Given the description of an element on the screen output the (x, y) to click on. 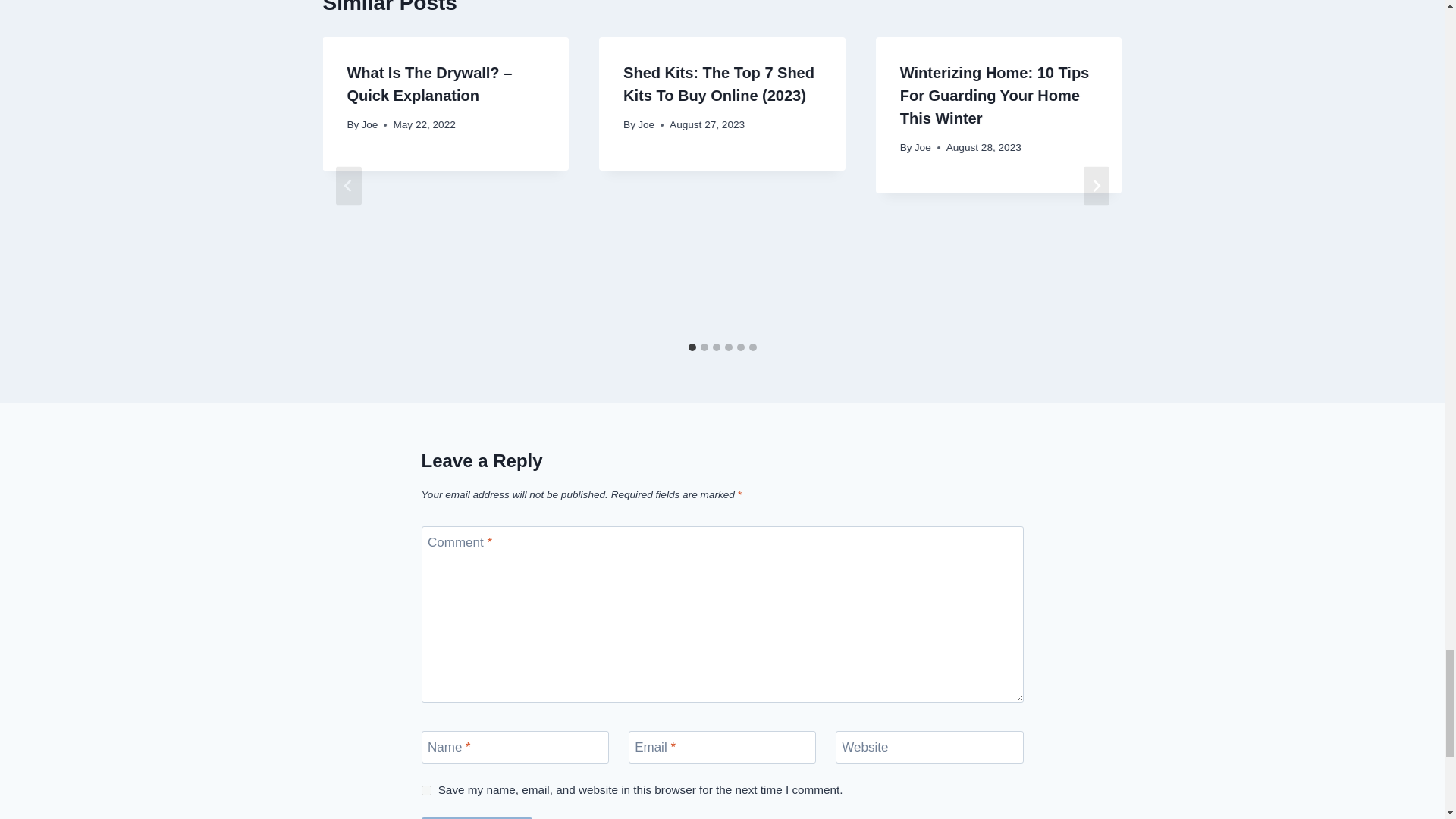
Post Comment (477, 818)
yes (426, 790)
